Given the description of an element on the screen output the (x, y) to click on. 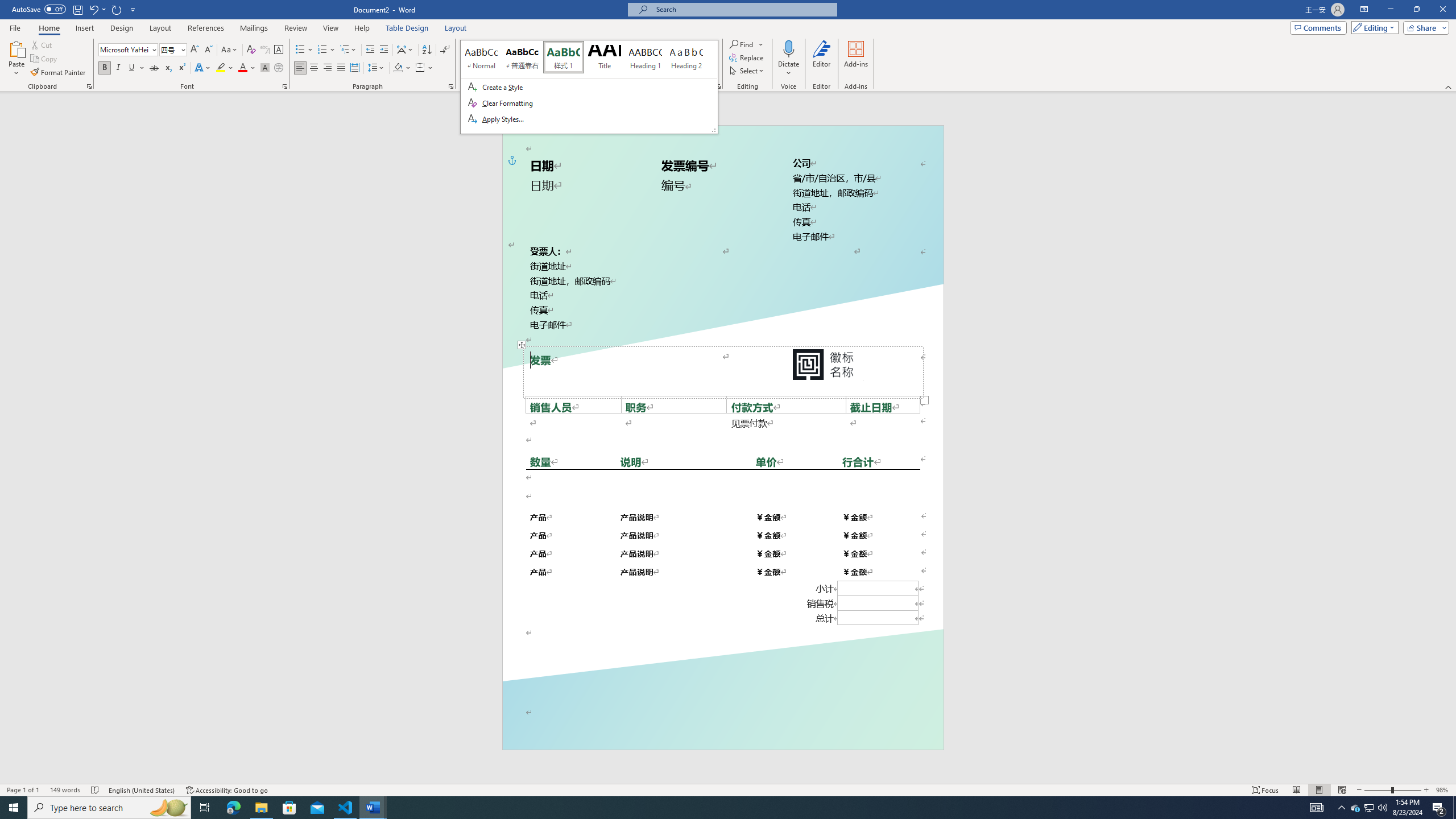
Spelling and Grammar Check No Errors (94, 790)
